Given the description of an element on the screen output the (x, y) to click on. 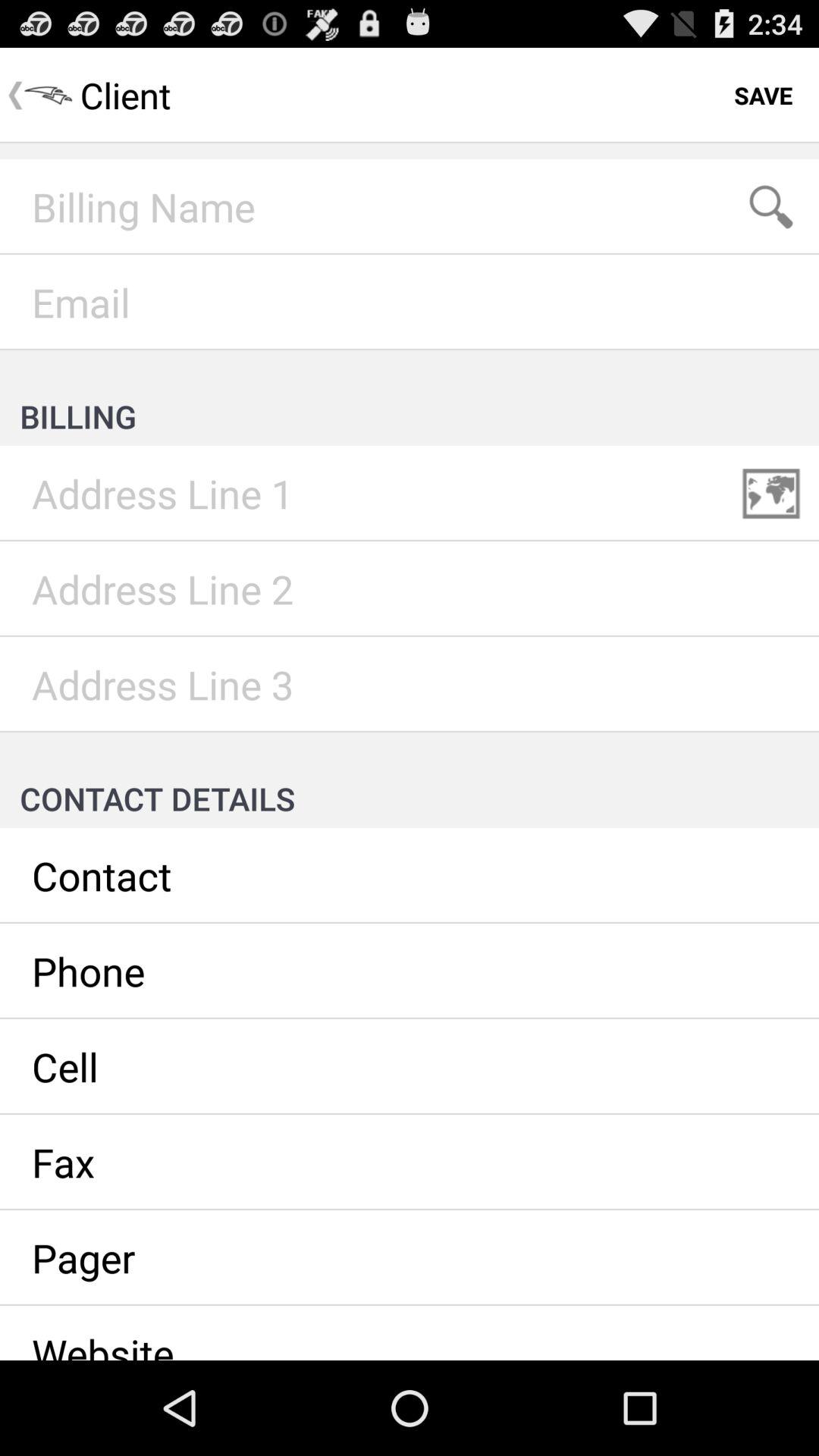
add fax number (409, 1162)
